Given the description of an element on the screen output the (x, y) to click on. 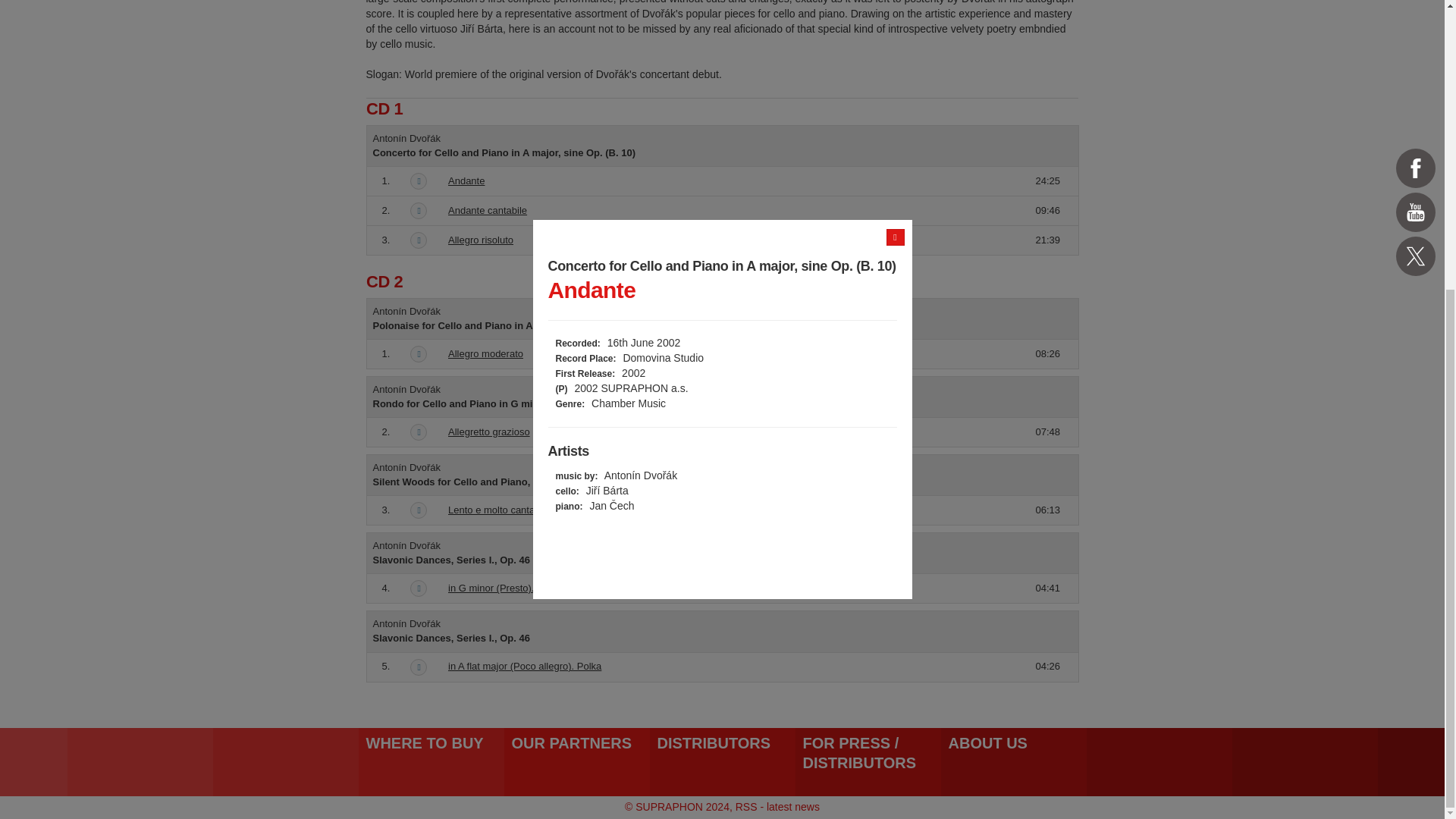
DISTRIBUTORS (721, 762)
Andante (466, 180)
Allegro moderato (485, 353)
ABOUT US (1013, 762)
RSS - latest news (777, 806)
Allegro risoluto (480, 239)
Allegretto grazioso (488, 431)
Lento e molto cantabile (499, 509)
Andante cantabile (487, 210)
OUR PARTNERS (576, 762)
